Given the description of an element on the screen output the (x, y) to click on. 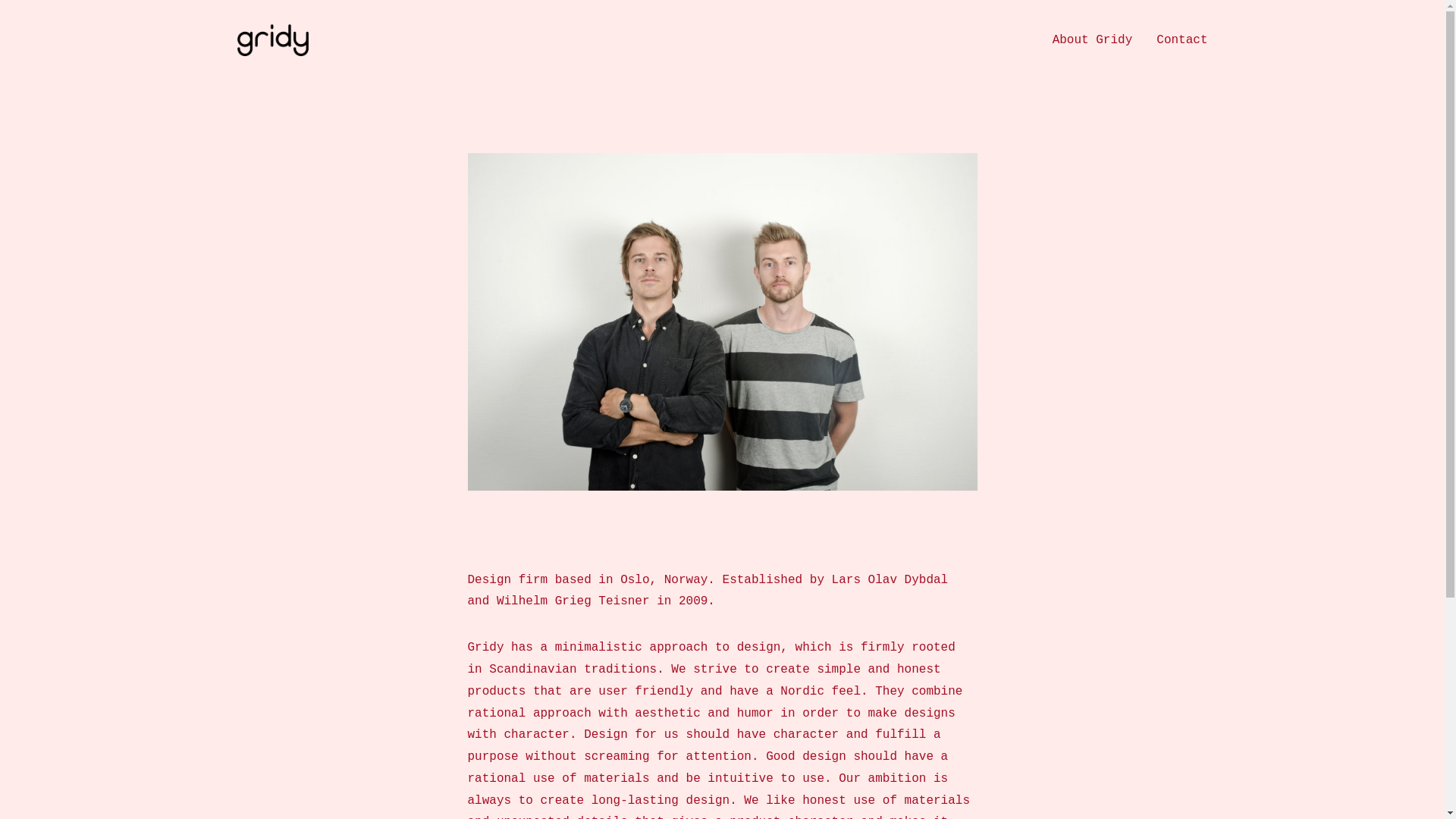
About Gridy (1092, 40)
Contact (1181, 40)
